Given the description of an element on the screen output the (x, y) to click on. 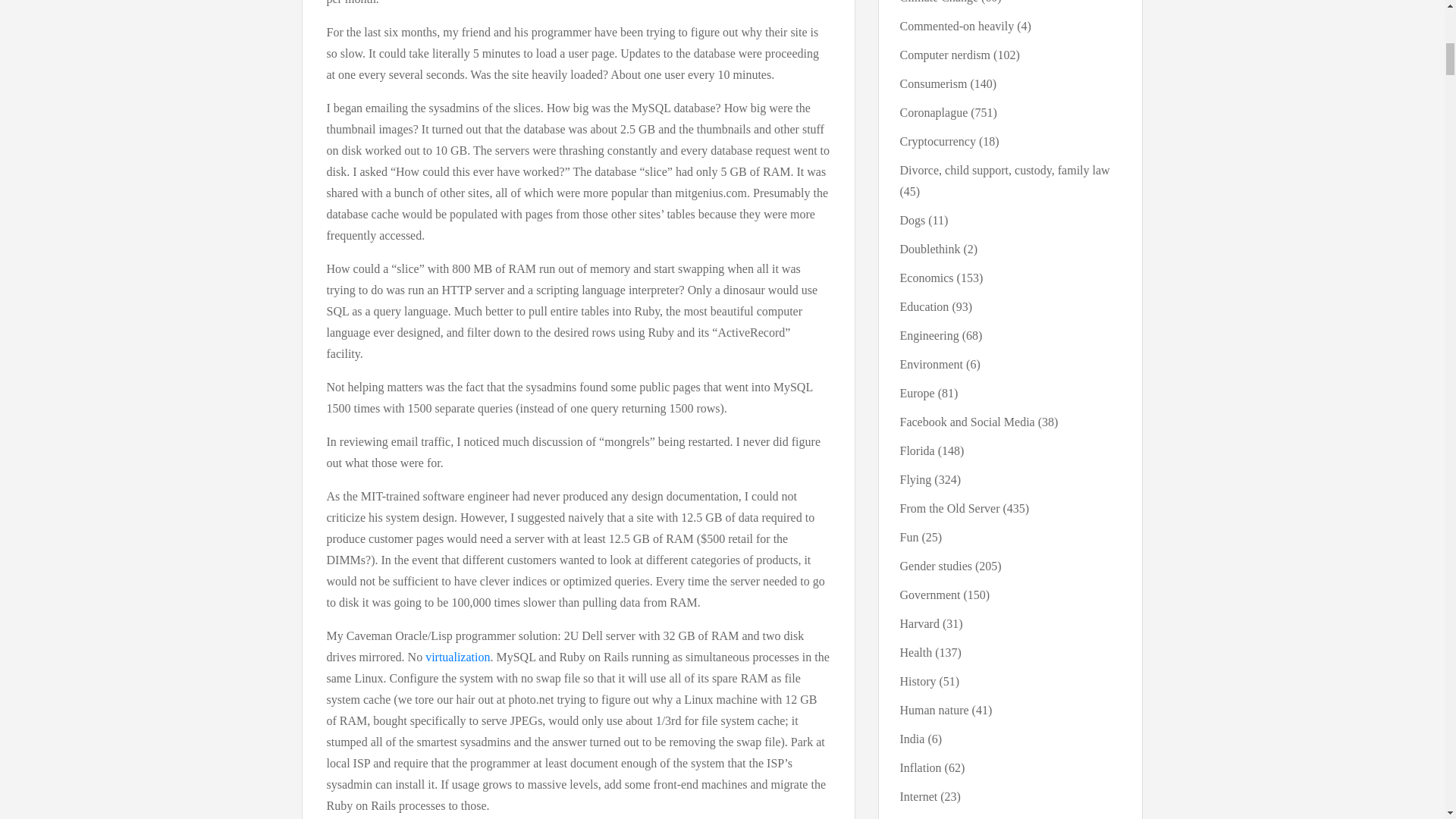
virtualization (457, 656)
